Given the description of an element on the screen output the (x, y) to click on. 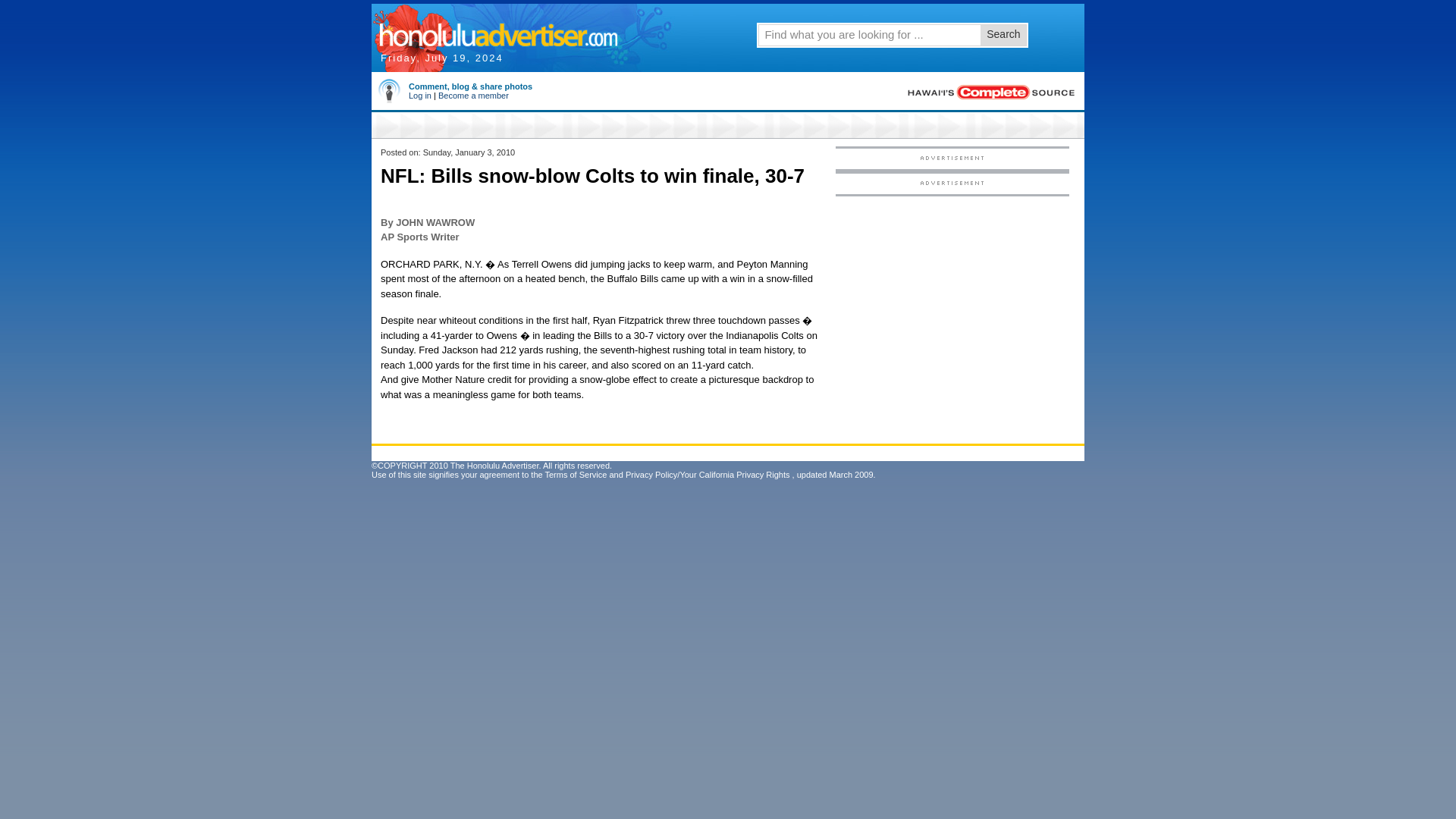
Become a member (473, 94)
Log in (419, 94)
Search (1002, 34)
Find what you are looking for ... (868, 34)
